Given the description of an element on the screen output the (x, y) to click on. 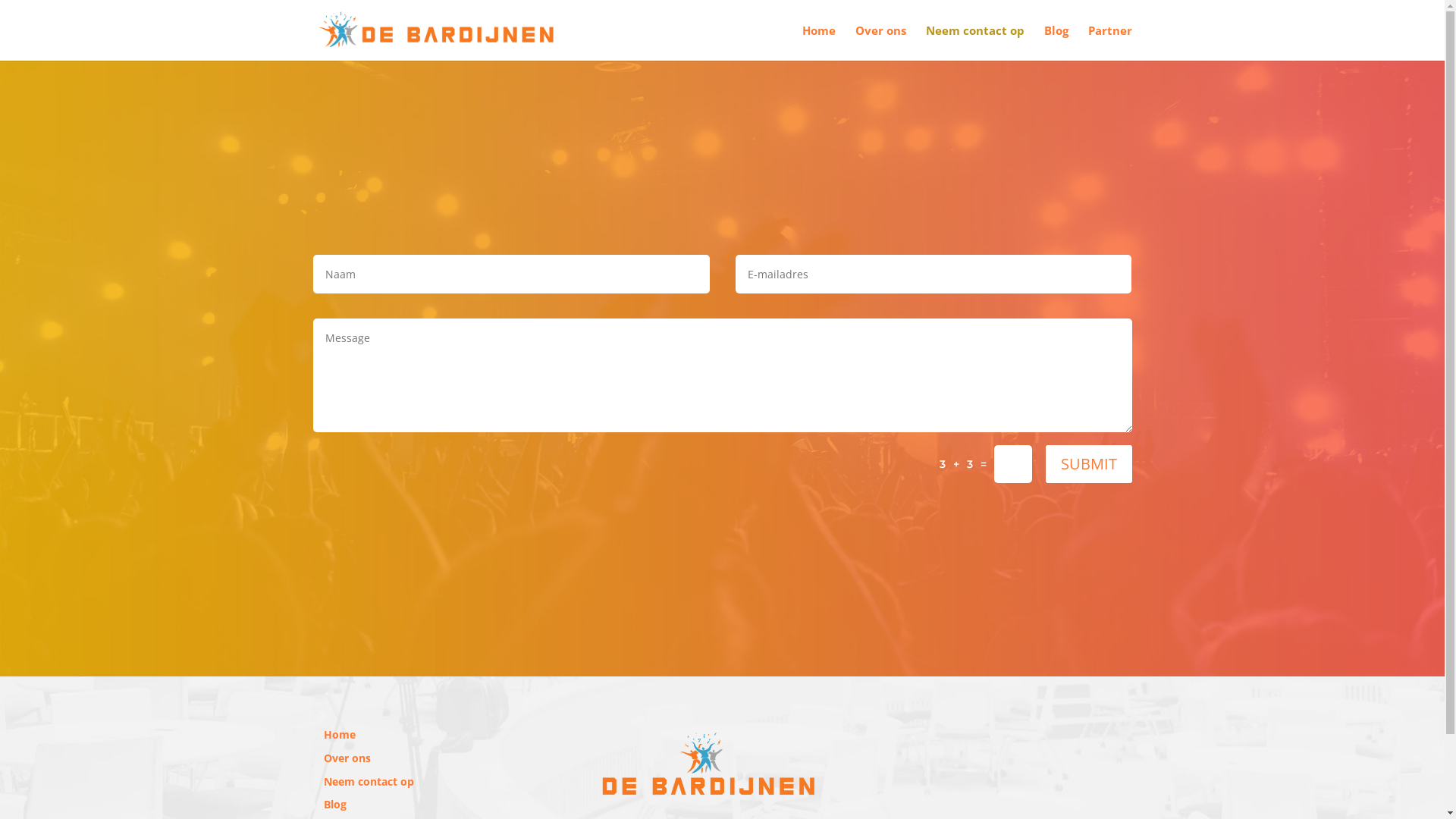
Neem contact op Element type: text (974, 42)
Over ons Element type: text (880, 42)
Over ons Element type: text (346, 757)
Home Element type: text (338, 734)
Neem contact op Element type: text (368, 781)
Blog Element type: text (1055, 42)
Partner Element type: text (1109, 42)
Blog Element type: text (334, 804)
SUBMIT Element type: text (1087, 464)
Home Element type: text (818, 42)
